Given the description of an element on the screen output the (x, y) to click on. 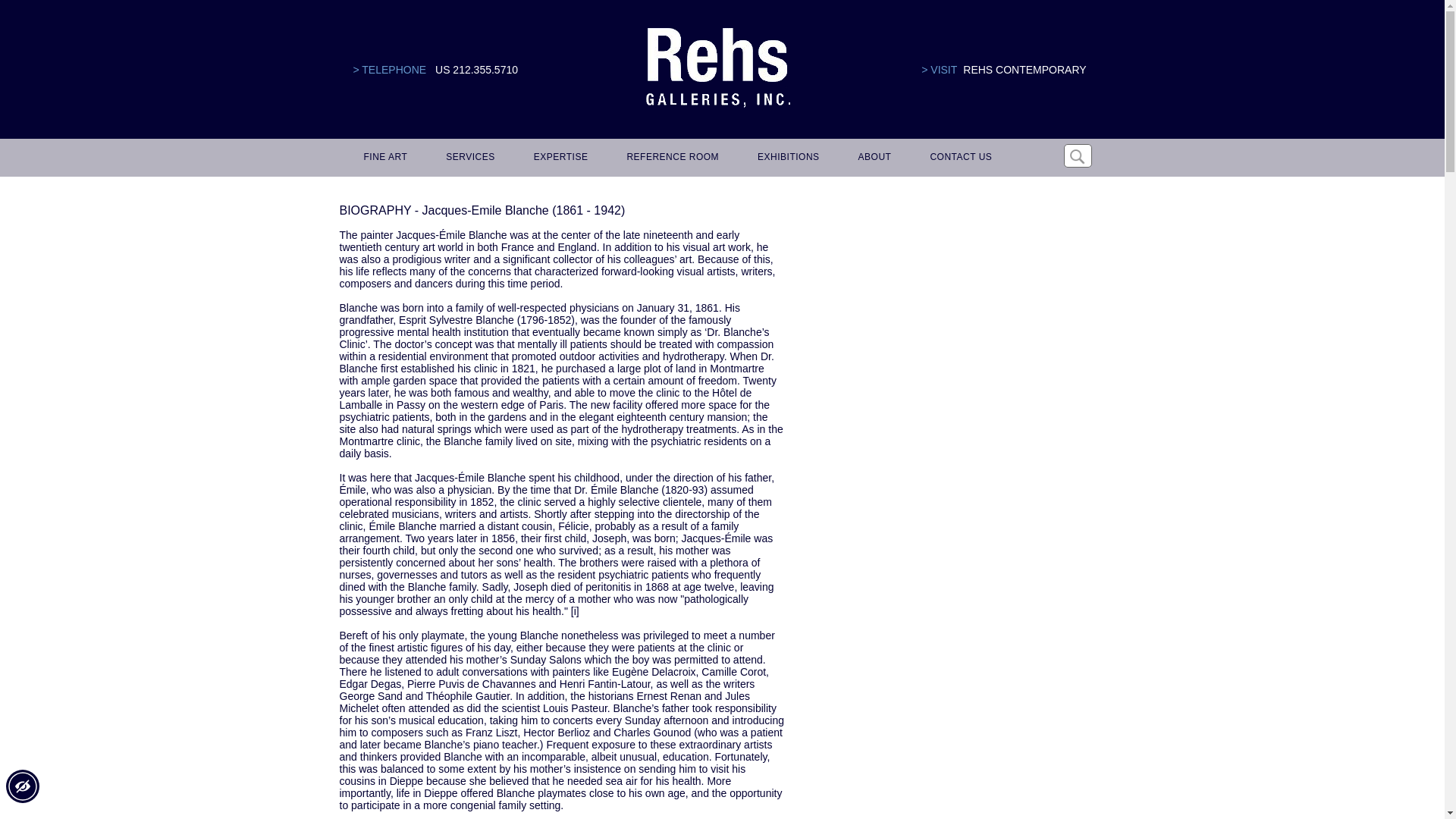
CONTACT US (957, 157)
Logo (717, 67)
EXHIBITIONS (785, 157)
SERVICES (467, 157)
ABOUT (872, 157)
EXPERTISE (558, 157)
FINE ART (383, 157)
REFERENCE ROOM (670, 157)
REHS CONTEMPORARY (1024, 69)
Accessibility Menu (22, 786)
